Given the description of an element on the screen output the (x, y) to click on. 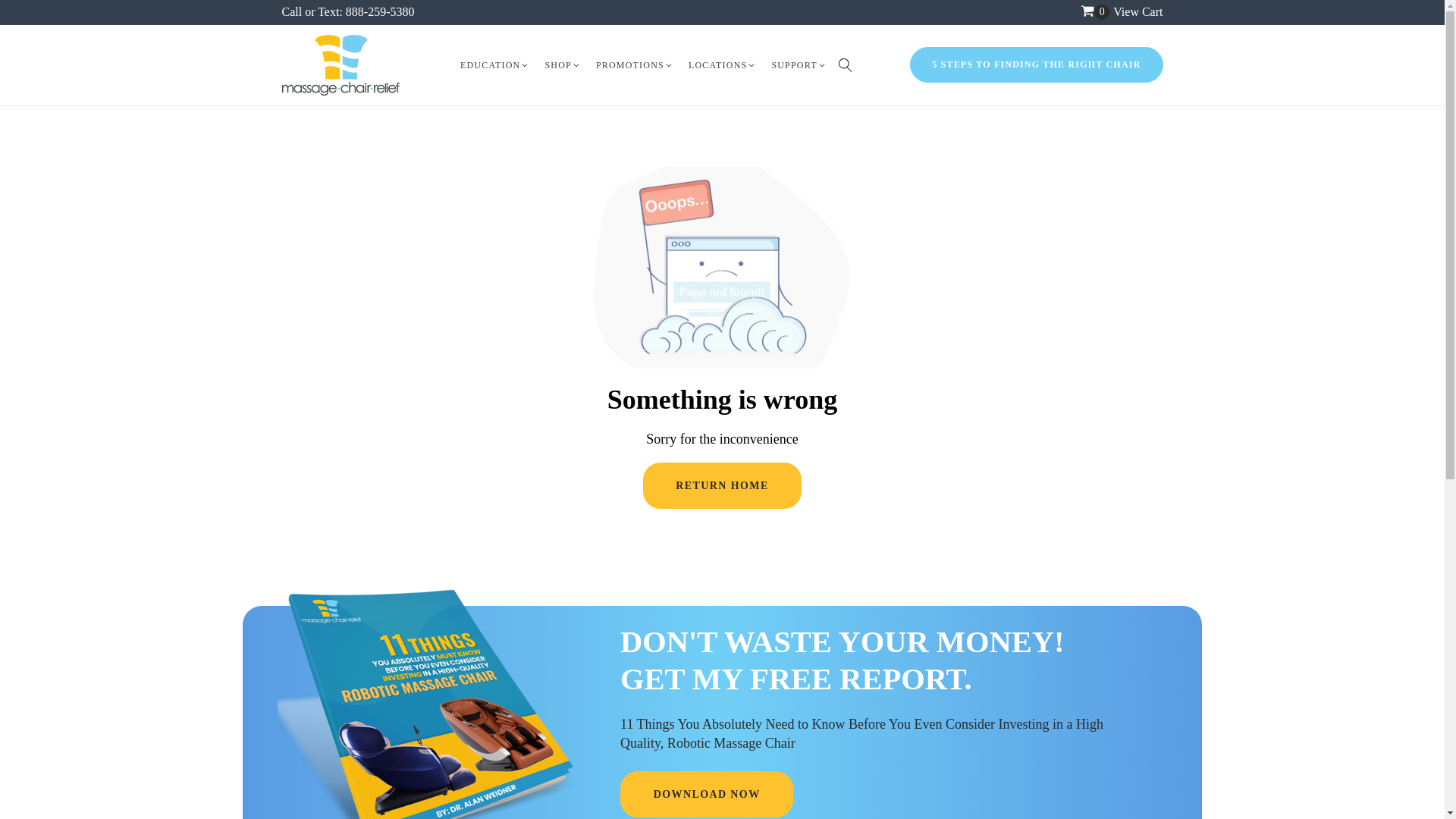
Call or Text: 888-259-5380 (348, 11)
EDUCATION (494, 65)
View Cart (1137, 11)
Go to Cart (1094, 12)
SHOP (562, 65)
